Given the description of an element on the screen output the (x, y) to click on. 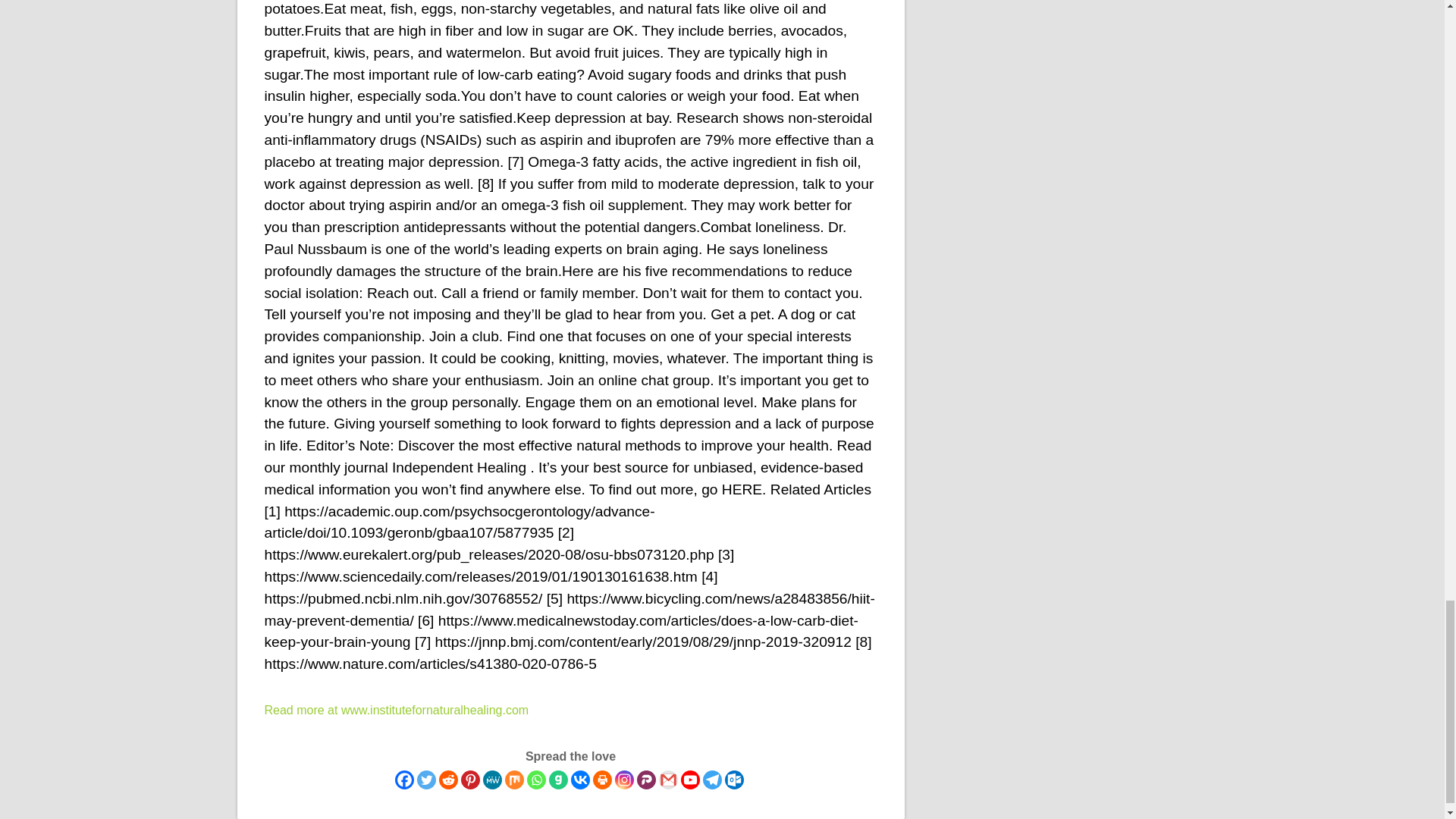
Parler (646, 779)
Twitter (425, 779)
Facebook (403, 779)
Vkontakte (579, 779)
Whatsapp (534, 779)
Mix (514, 779)
Print (601, 779)
Reddit (447, 779)
MeWe (490, 779)
Instagram (623, 779)
